Given the description of an element on the screen output the (x, y) to click on. 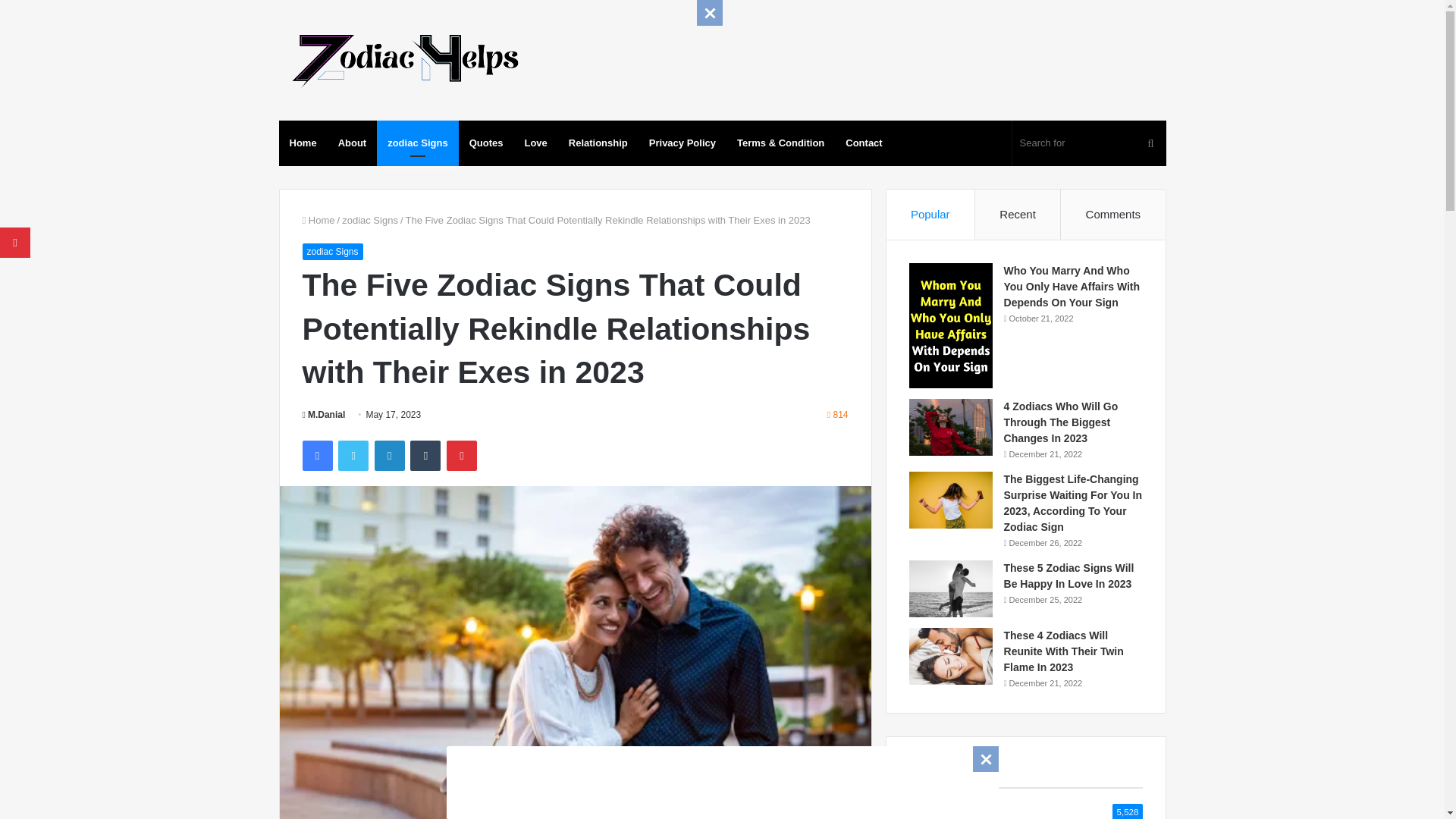
LinkedIn (389, 455)
Twitter (352, 455)
Twitter (352, 455)
Facebook (316, 455)
Facebook (316, 455)
Search for (1088, 142)
ZodiacHelps (403, 57)
M.Danial (323, 414)
Tumblr (425, 455)
Privacy Policy (682, 143)
Quotes (485, 143)
Advertisement (721, 780)
Contact (863, 143)
About (352, 143)
Pinterest (461, 455)
